Given the description of an element on the screen output the (x, y) to click on. 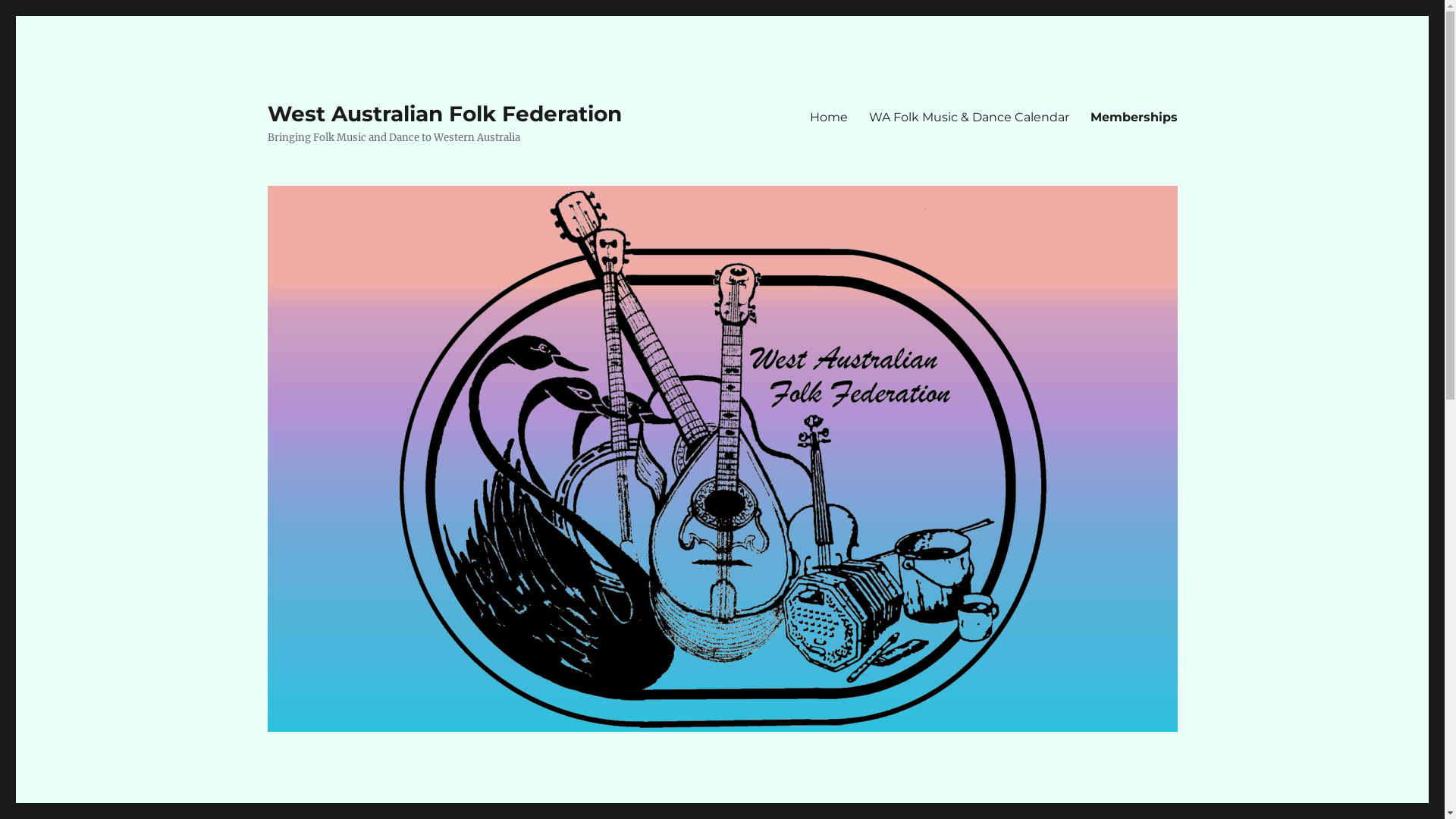
Home Element type: text (828, 116)
West Australian Folk Federation Element type: text (443, 113)
Memberships Element type: text (1133, 116)
WA Folk Music & Dance Calendar Element type: text (968, 116)
